Given the description of an element on the screen output the (x, y) to click on. 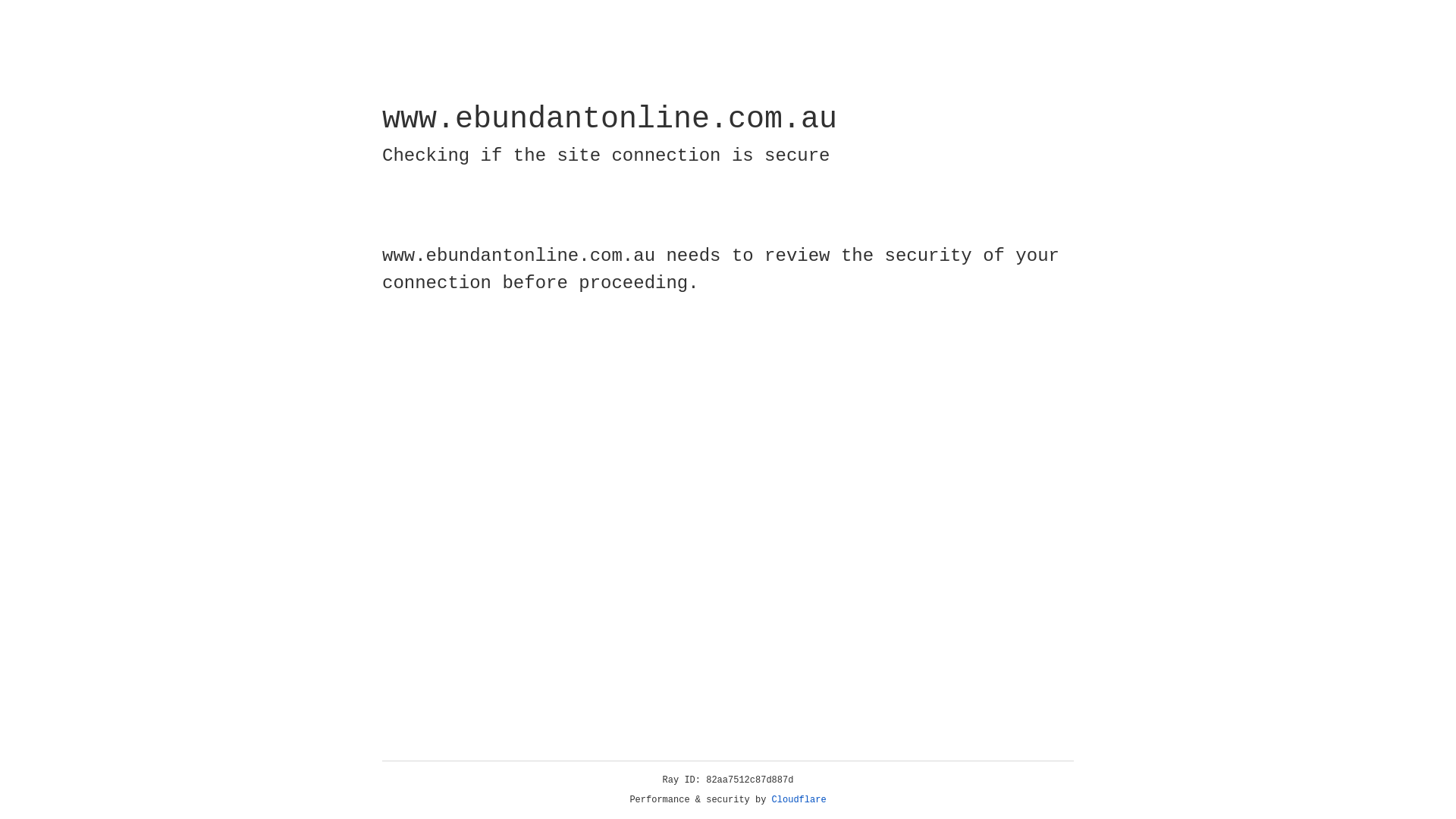
Cloudflare Element type: text (798, 799)
